Given the description of an element on the screen output the (x, y) to click on. 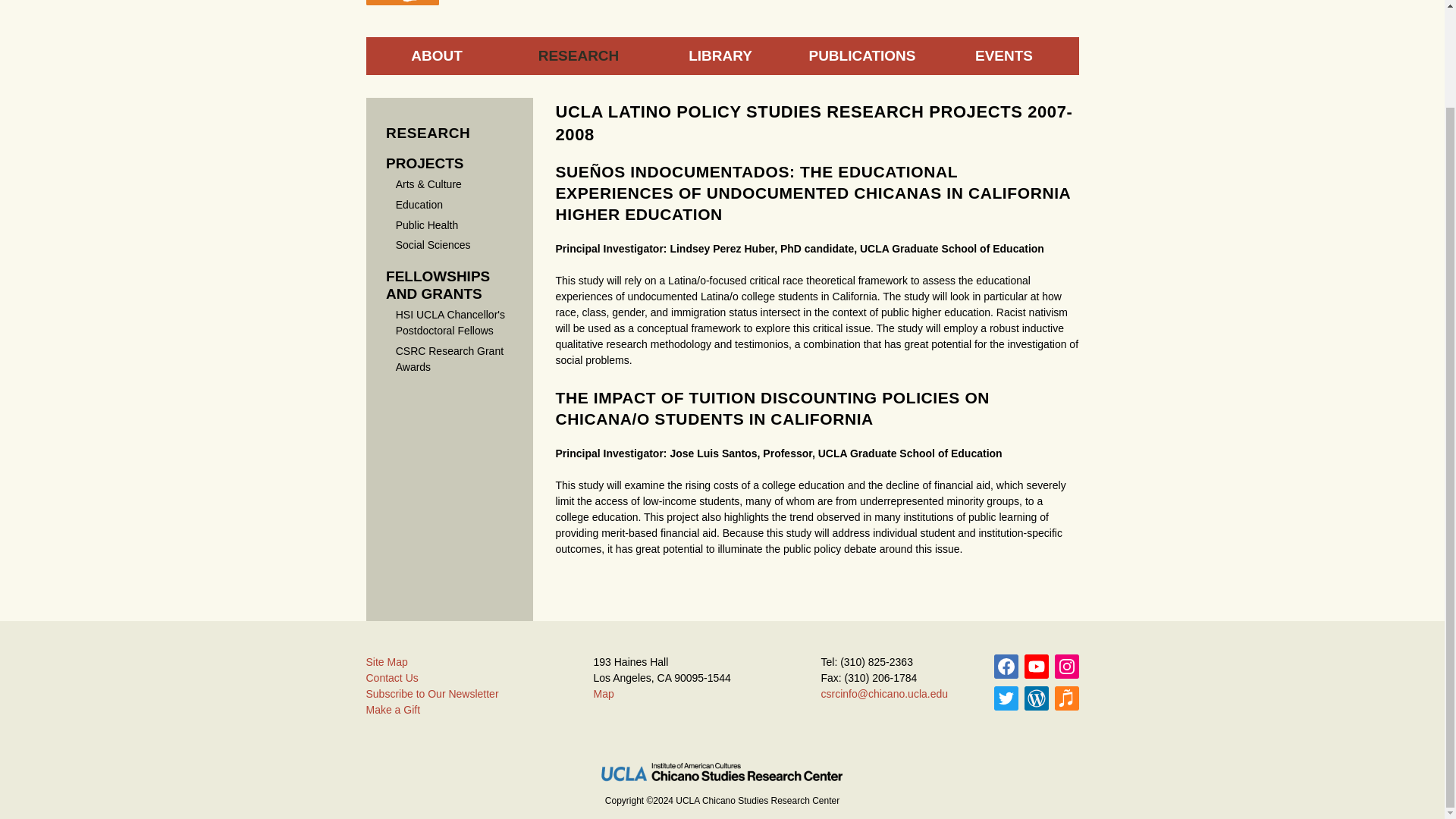
EVENTS (1003, 55)
LIBRARY (719, 55)
HSI UCLA Chancellor's Postdoctoral Fellows (450, 322)
CSRC Research Grant Awards (449, 358)
Follow (1066, 666)
PROJECTS (424, 163)
Read (1035, 698)
ABOUT (435, 55)
Education (419, 204)
Subscribe (1035, 666)
Site Map (386, 662)
FELLOWSHIPS AND GRANTS (437, 285)
Follow (1004, 698)
PUBLICATIONS (862, 55)
